Given the description of an element on the screen output the (x, y) to click on. 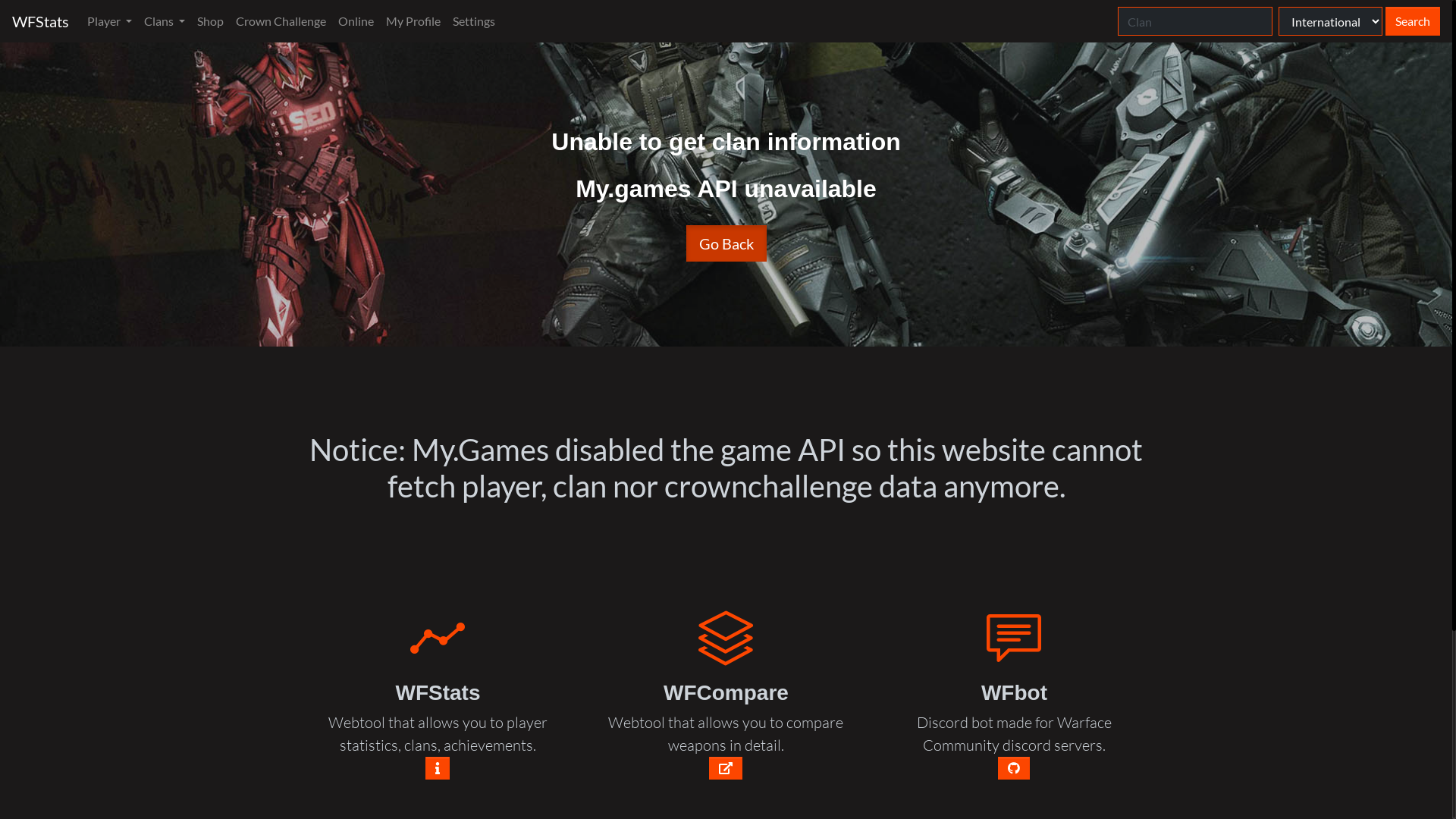
Player Element type: text (109, 21)
My Profile Element type: text (412, 21)
Crown Challenge Element type: text (280, 21)
Search Element type: text (1412, 20)
Settings Element type: text (473, 21)
WFStats Element type: text (40, 21)
Online Element type: text (355, 21)
Clans Element type: text (164, 21)
Shop Element type: text (210, 21)
Go Back Element type: text (725, 243)
